Given the description of an element on the screen output the (x, y) to click on. 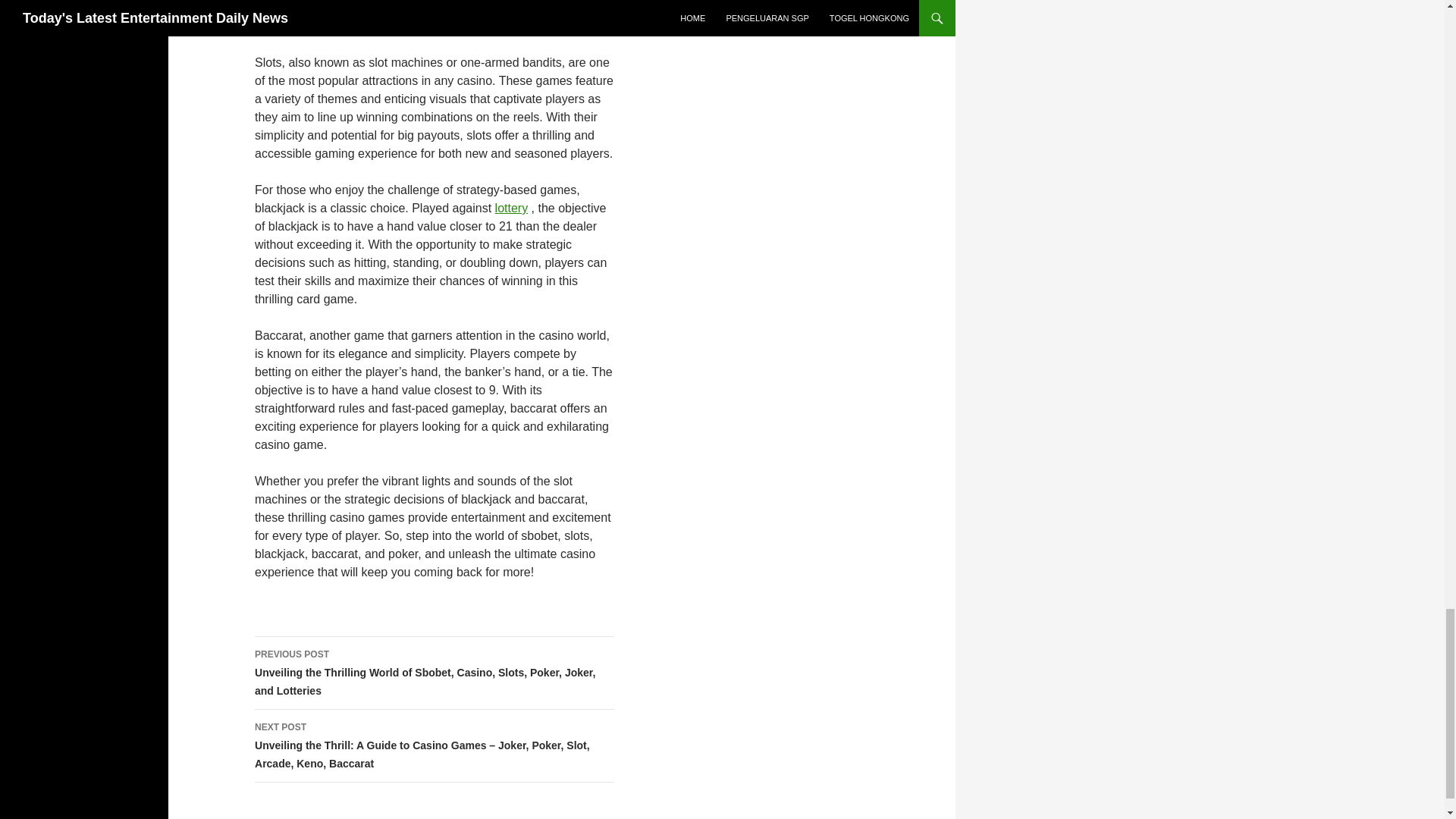
lottery (511, 207)
